Given the description of an element on the screen output the (x, y) to click on. 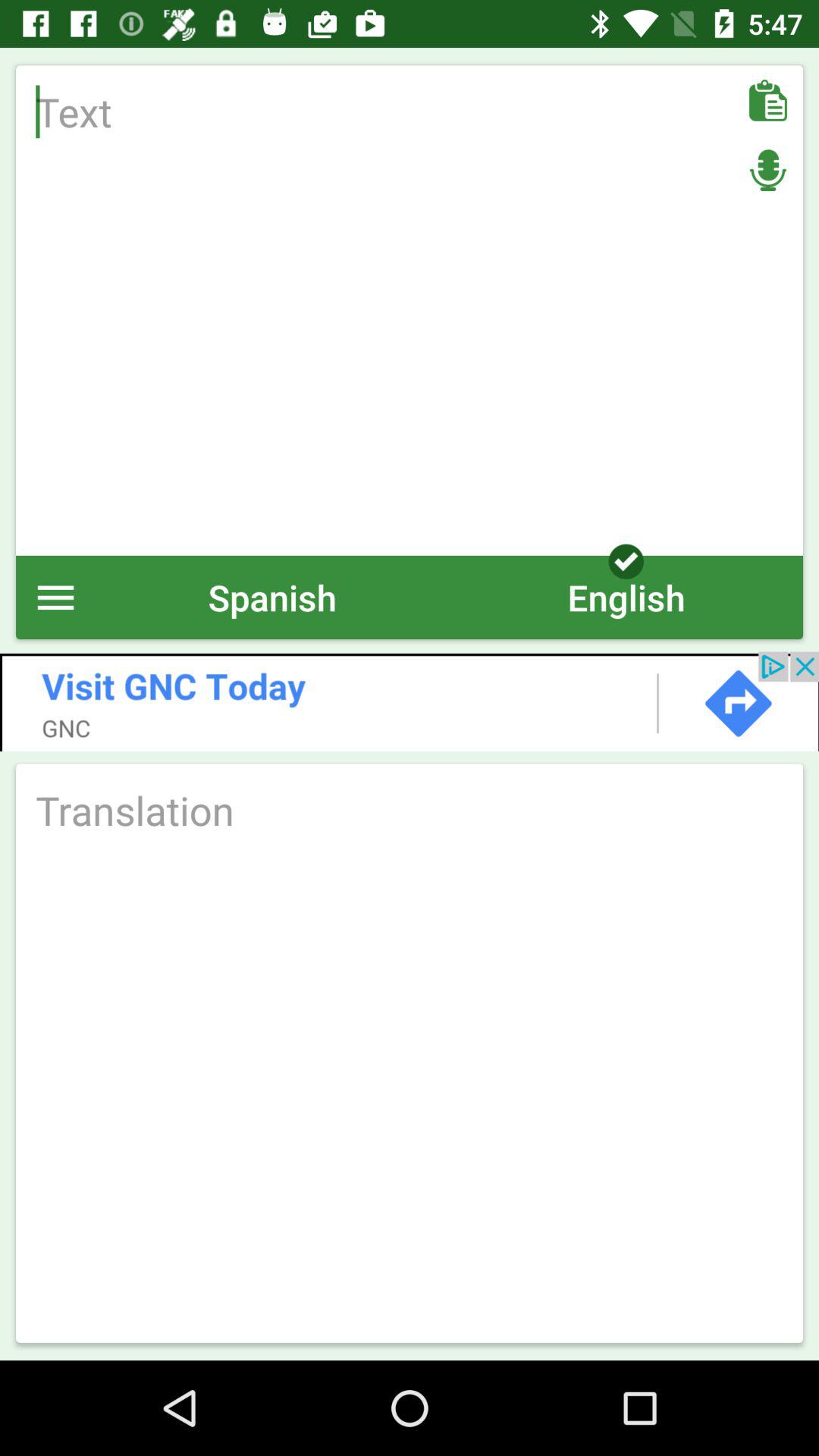
go to menu (55, 597)
